Given the description of an element on the screen output the (x, y) to click on. 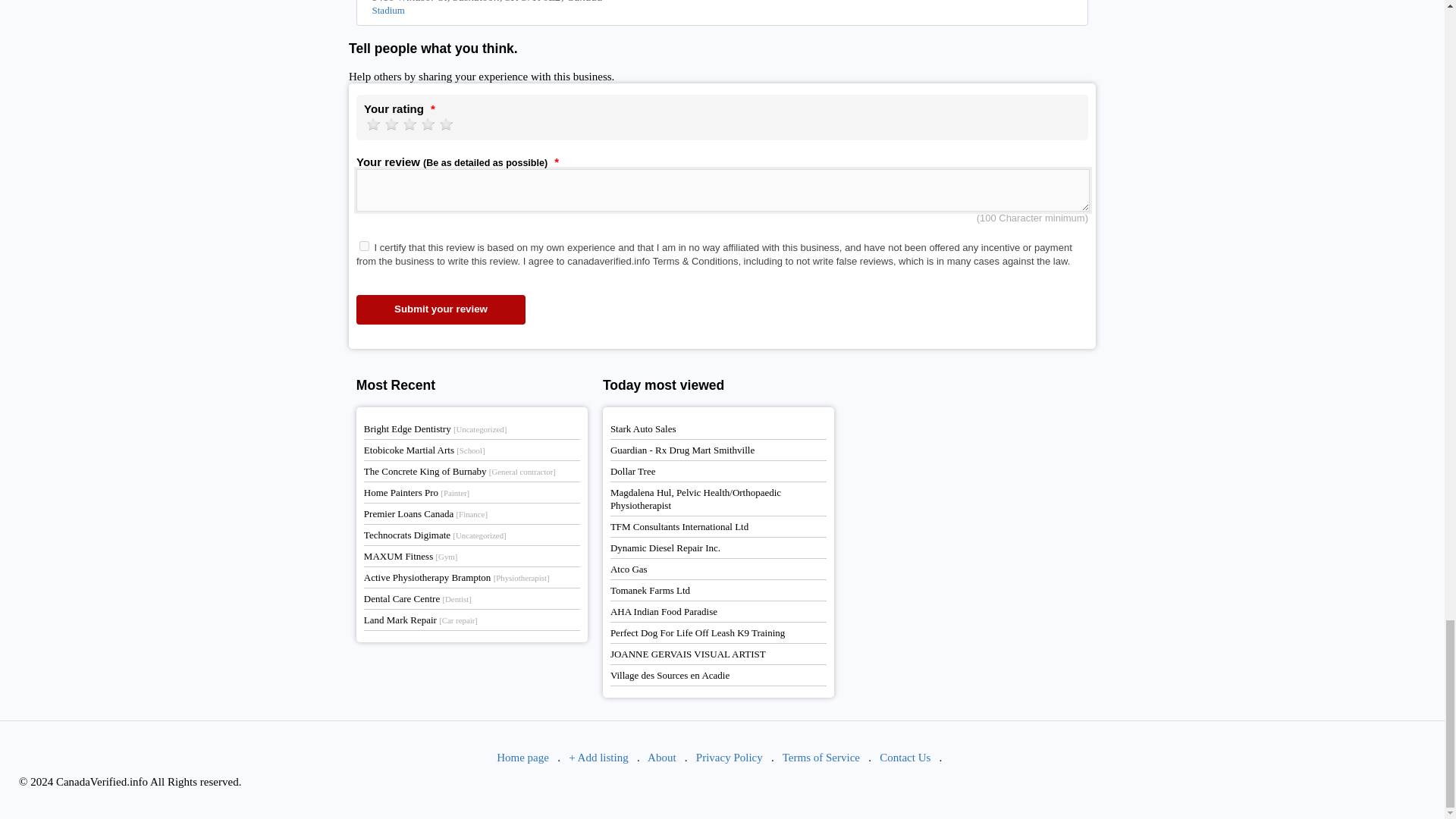
Submit your review (440, 309)
true (364, 245)
